Given the description of an element on the screen output the (x, y) to click on. 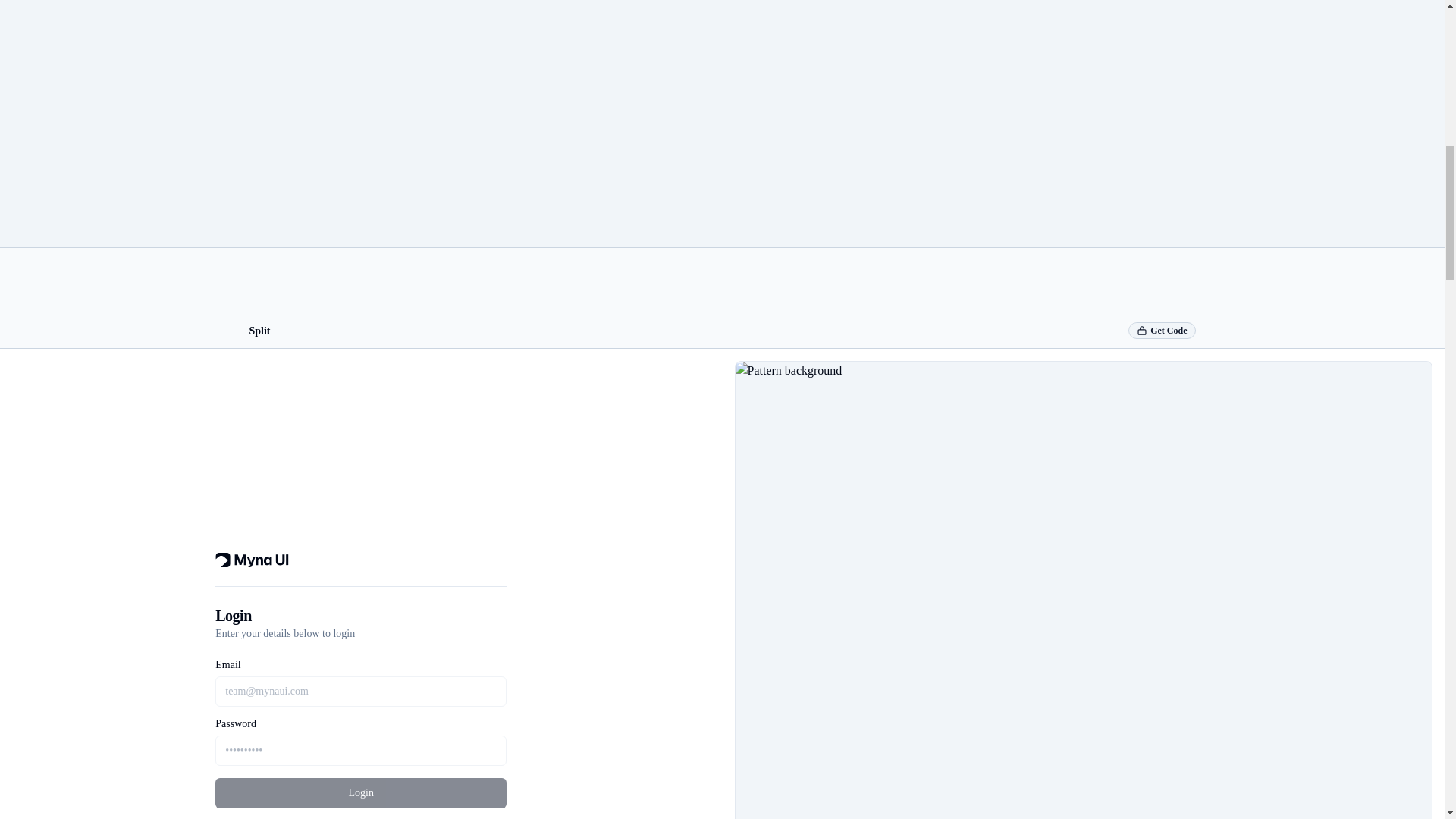
Login (360, 793)
Get Code (1161, 330)
Split (258, 330)
